Given the description of an element on the screen output the (x, y) to click on. 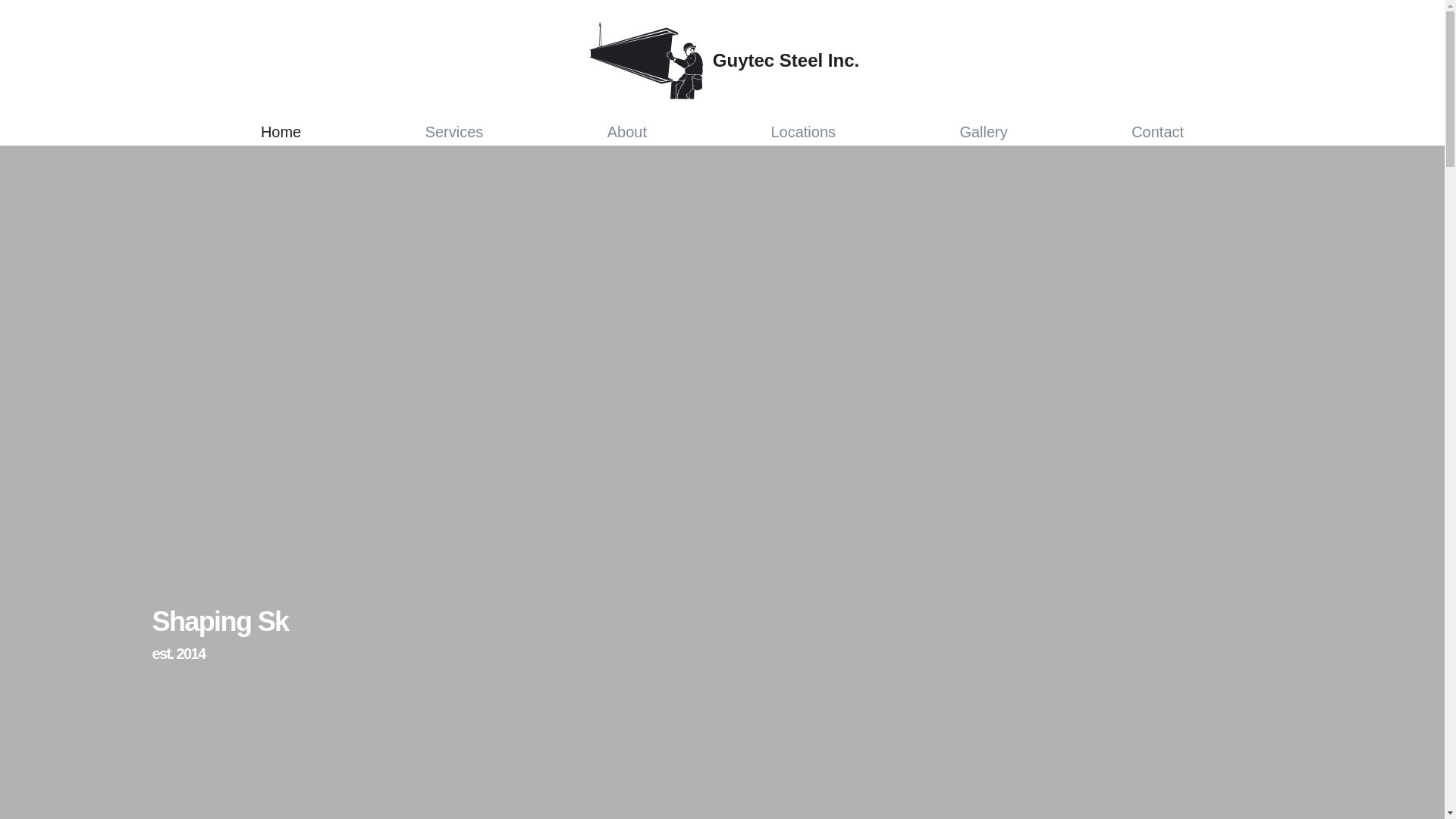
Home (280, 131)
Gallery (983, 131)
About (626, 131)
Contact (1157, 131)
Services (454, 131)
Locations (802, 131)
